Given the description of an element on the screen output the (x, y) to click on. 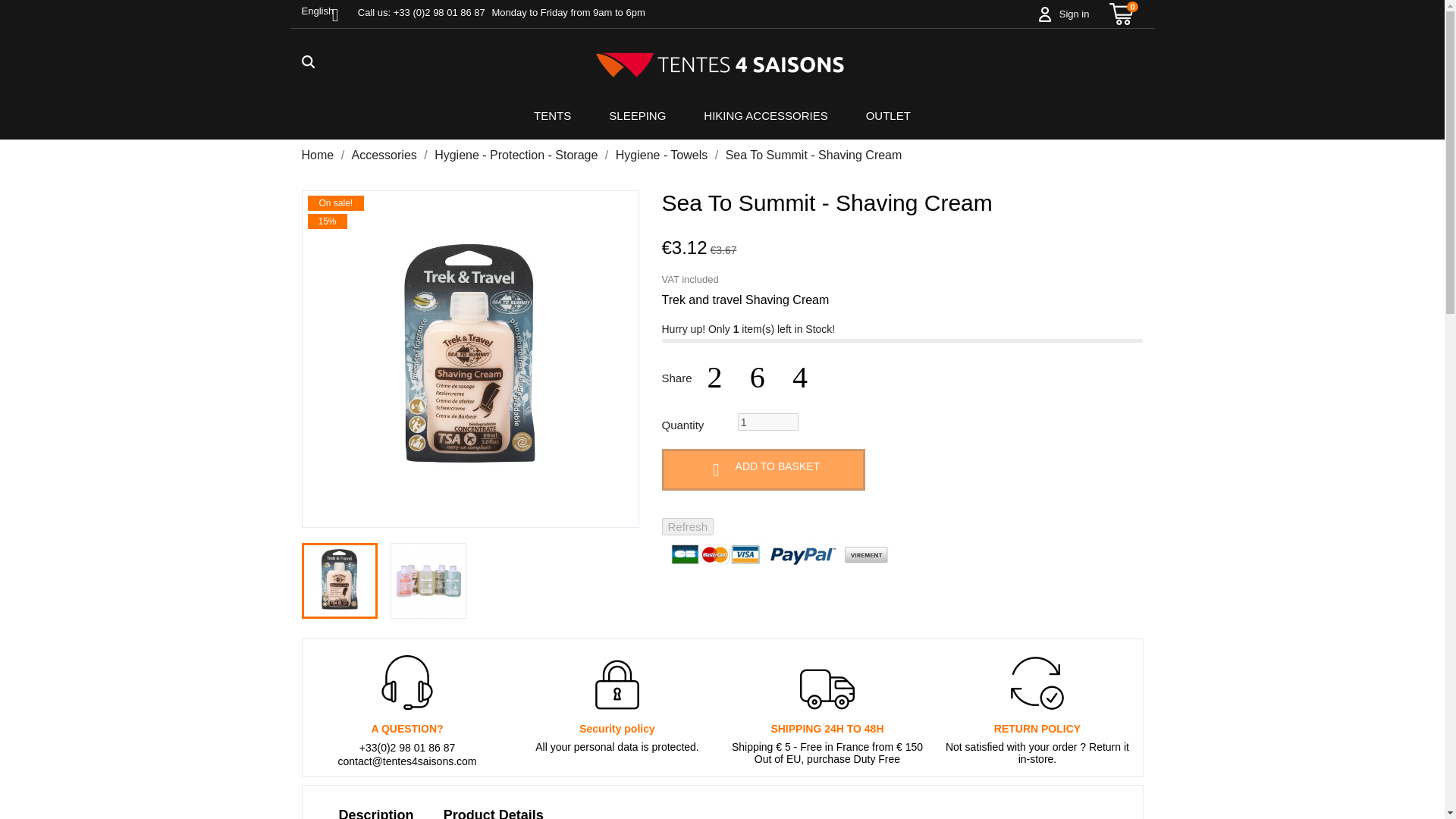
1 (766, 421)
Log in to your customer account (1074, 13)
0 (1121, 12)
Refresh (687, 526)
Sign in (1074, 13)
TENTS (552, 116)
